Given the description of an element on the screen output the (x, y) to click on. 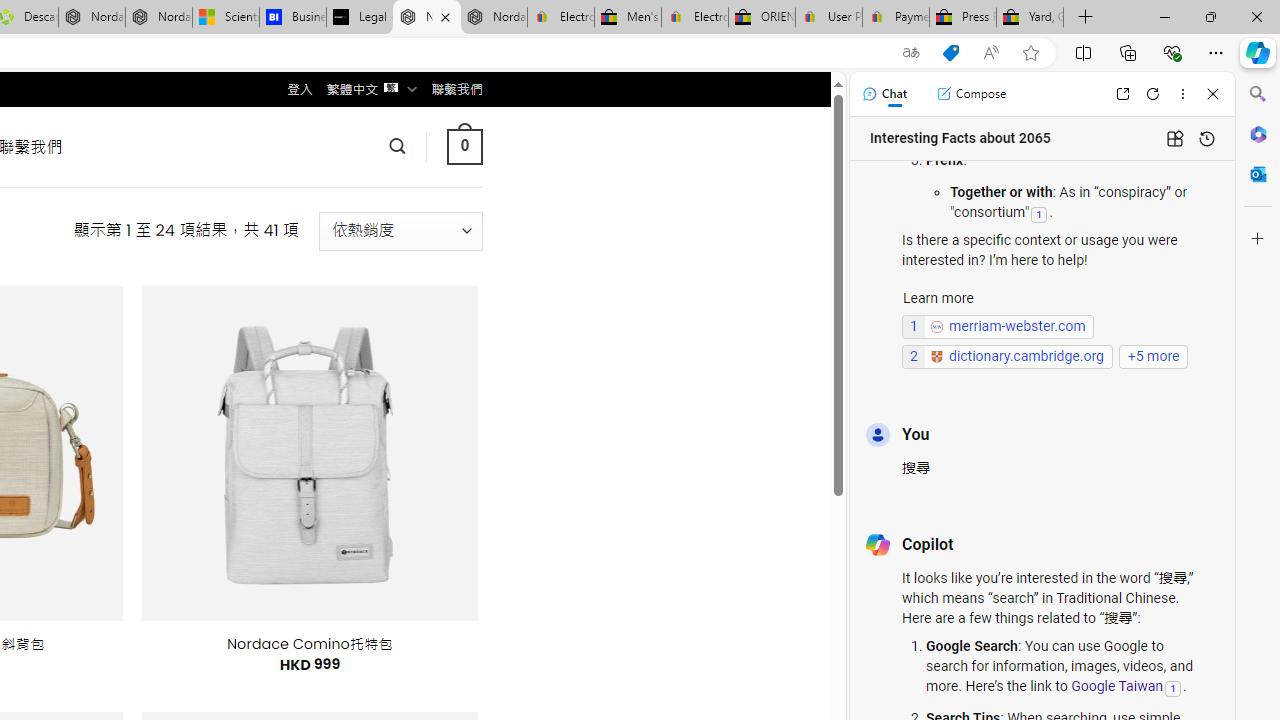
 0  (464, 146)
